Given the description of an element on the screen output the (x, y) to click on. 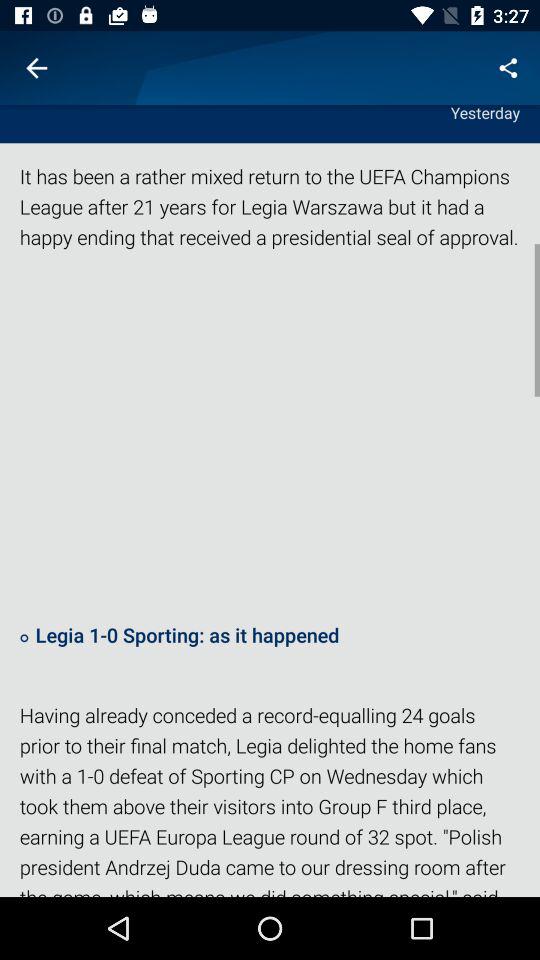
go back (36, 68)
